Given the description of an element on the screen output the (x, y) to click on. 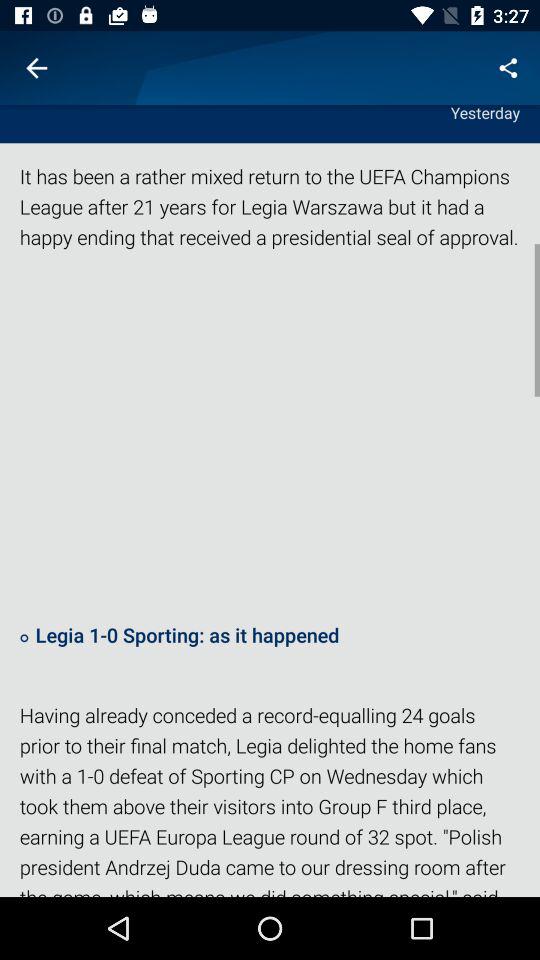
go back (36, 68)
